Given the description of an element on the screen output the (x, y) to click on. 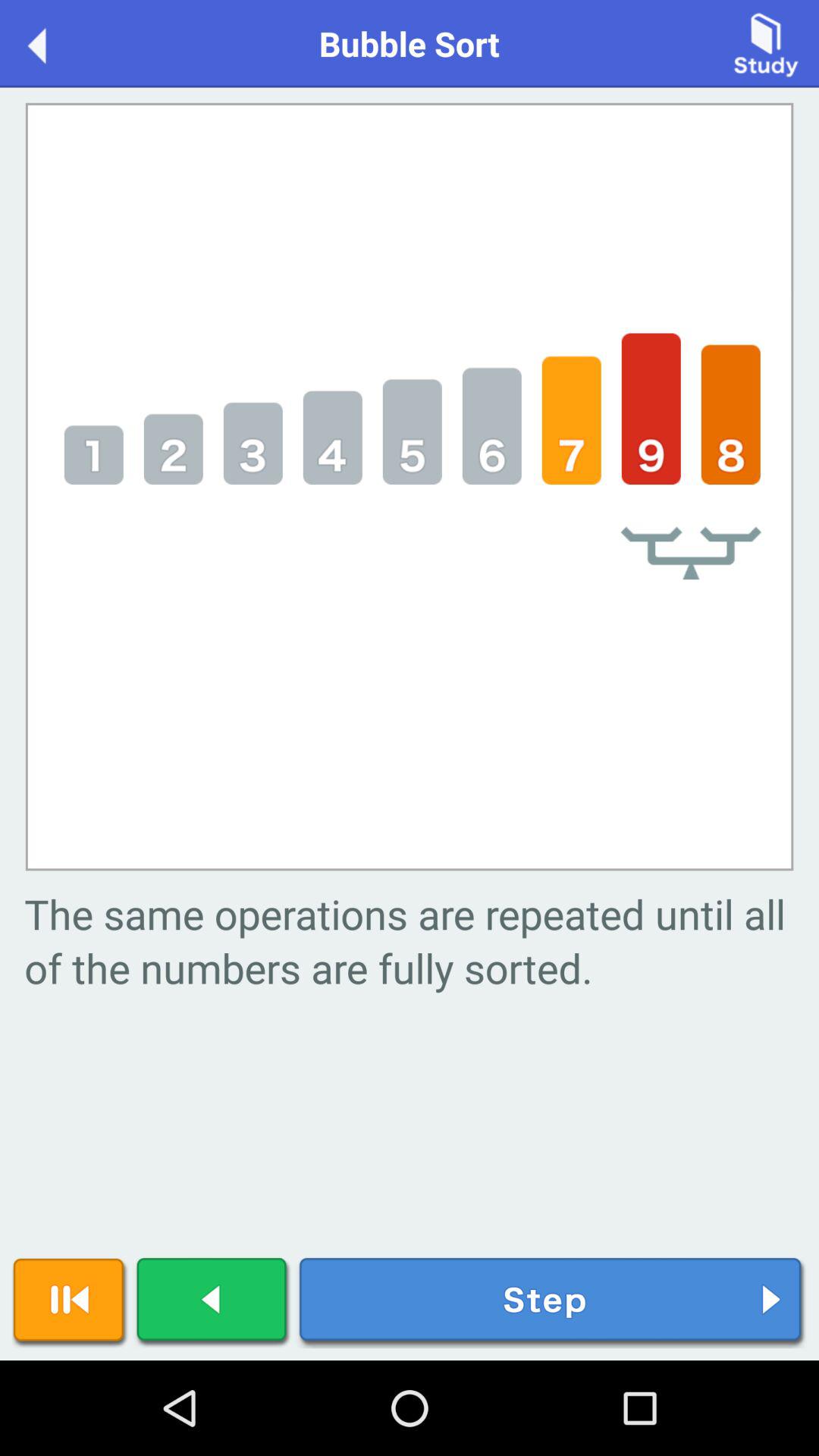
rewind (70, 1303)
